Given the description of an element on the screen output the (x, y) to click on. 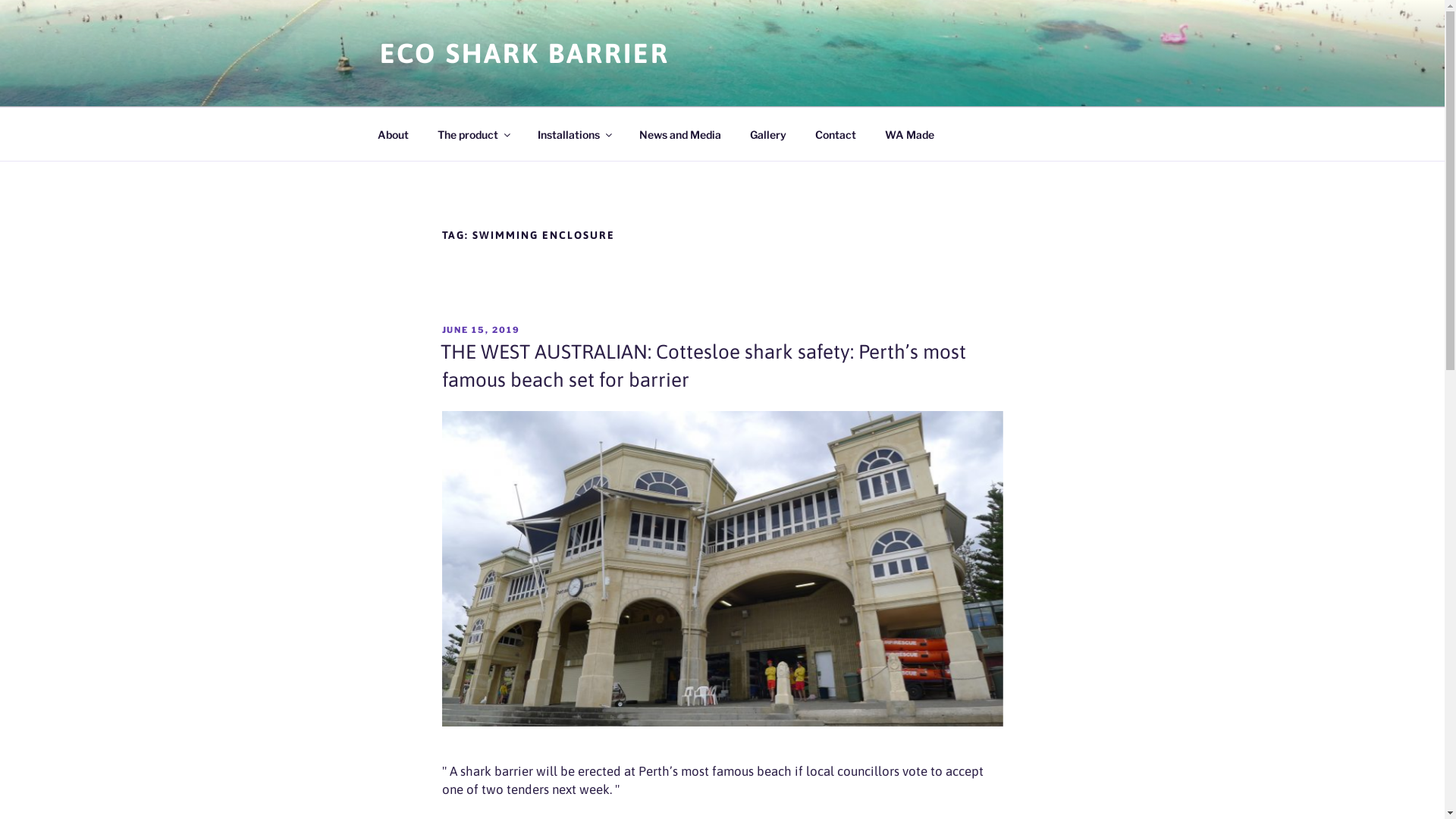
Installations Element type: text (574, 133)
ECO SHARK BARRIER Element type: text (523, 53)
Contact Element type: text (835, 133)
WA Made Element type: text (909, 133)
Gallery Element type: text (768, 133)
News and Media Element type: text (680, 133)
The product Element type: text (473, 133)
JUNE 15, 2019 Element type: text (480, 329)
About Element type: text (392, 133)
